Given the description of an element on the screen output the (x, y) to click on. 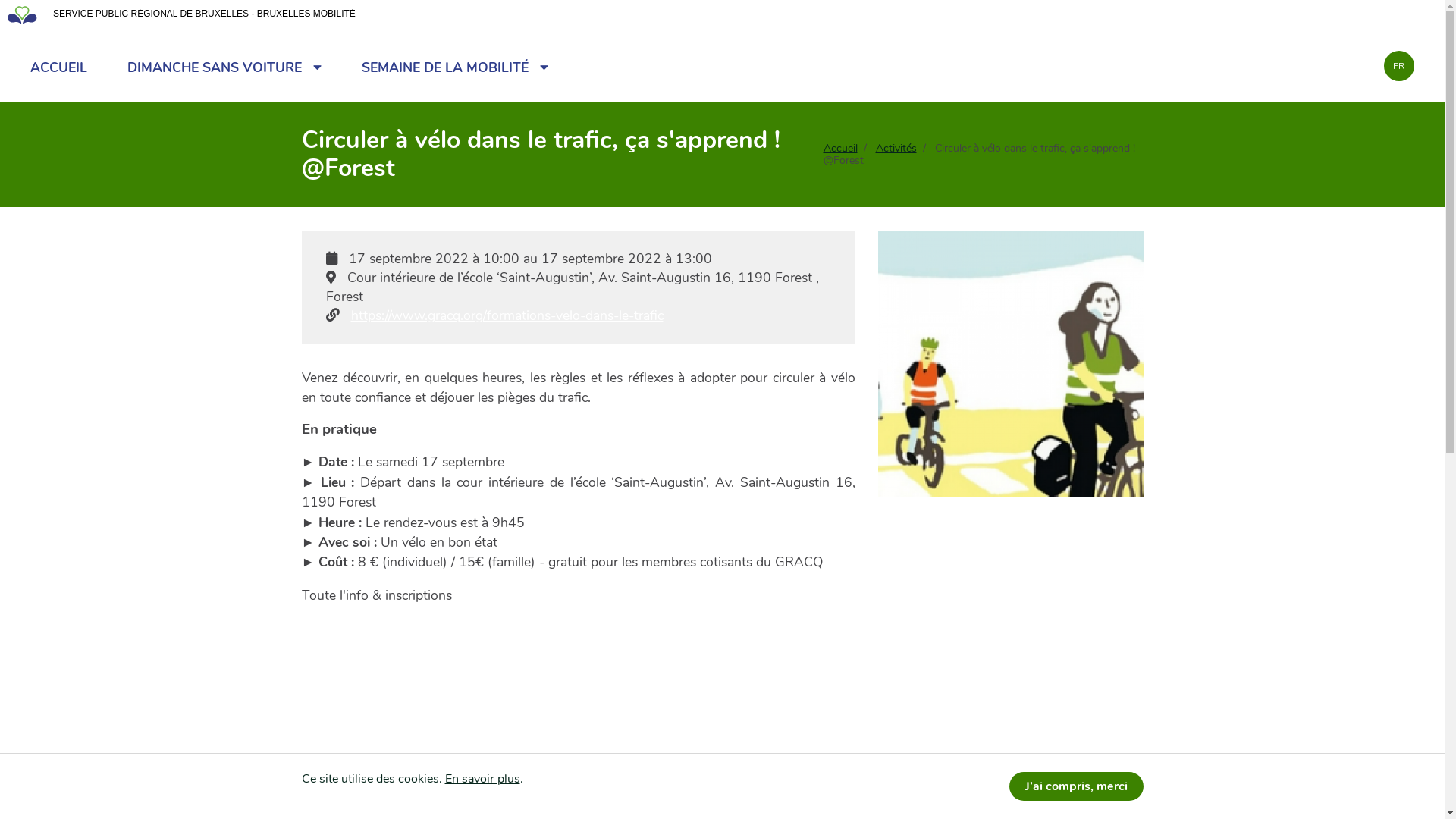
En savoir plus Element type: text (481, 778)
Accueil Element type: text (840, 148)
Toute l'info & inscriptions Element type: text (376, 595)
ACCUEIL Element type: text (58, 67)
DIMANCHE SANS VOITURE   Element type: text (224, 67)
https://www.gracq.org/formations-velo-dans-le-trafic Element type: text (506, 315)
